Given the description of an element on the screen output the (x, y) to click on. 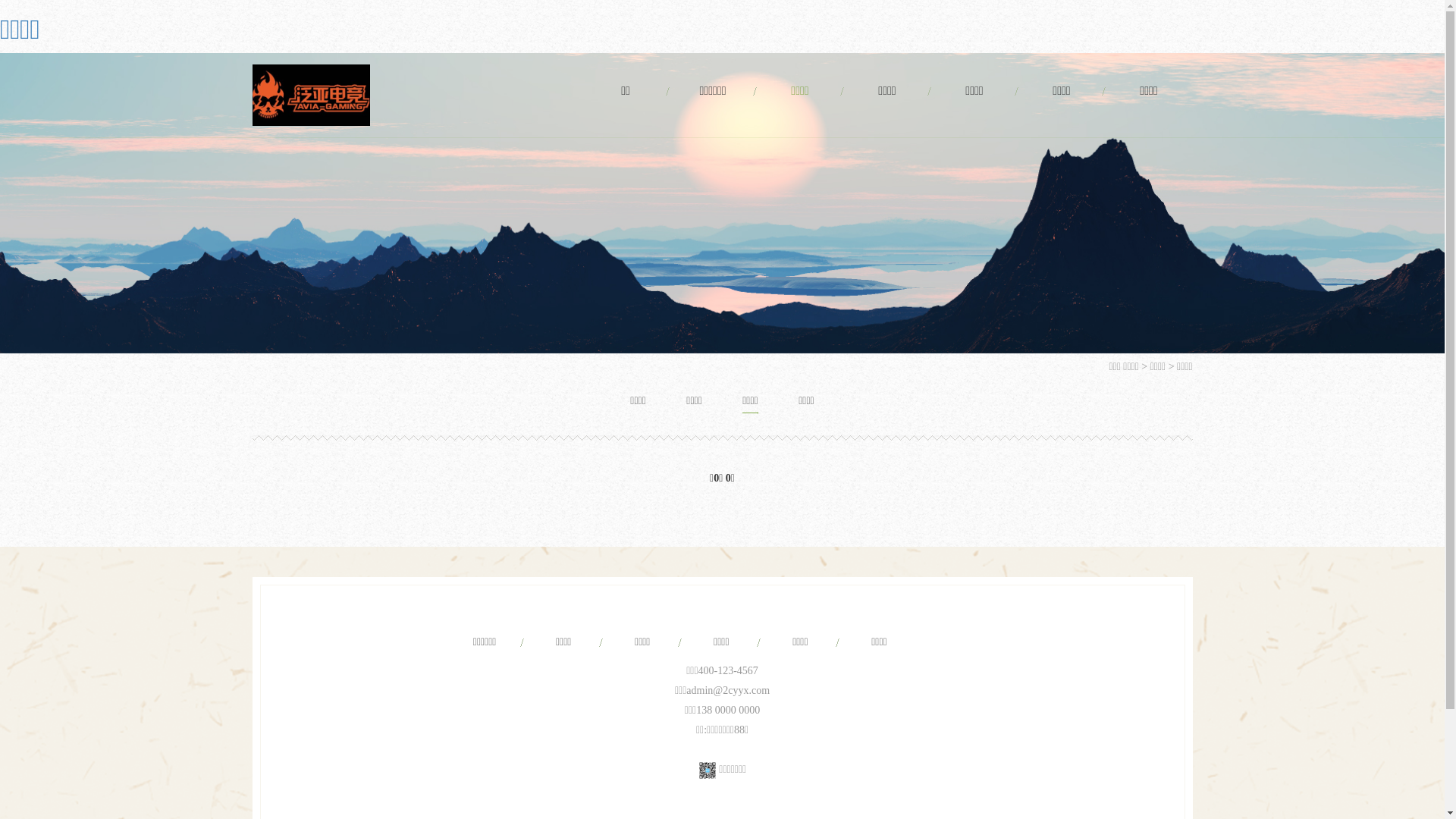
400-123-4567 Element type: text (727, 670)
admin@2cyyx.com Element type: text (727, 690)
138 0000 0000 Element type: text (727, 709)
